Given the description of an element on the screen output the (x, y) to click on. 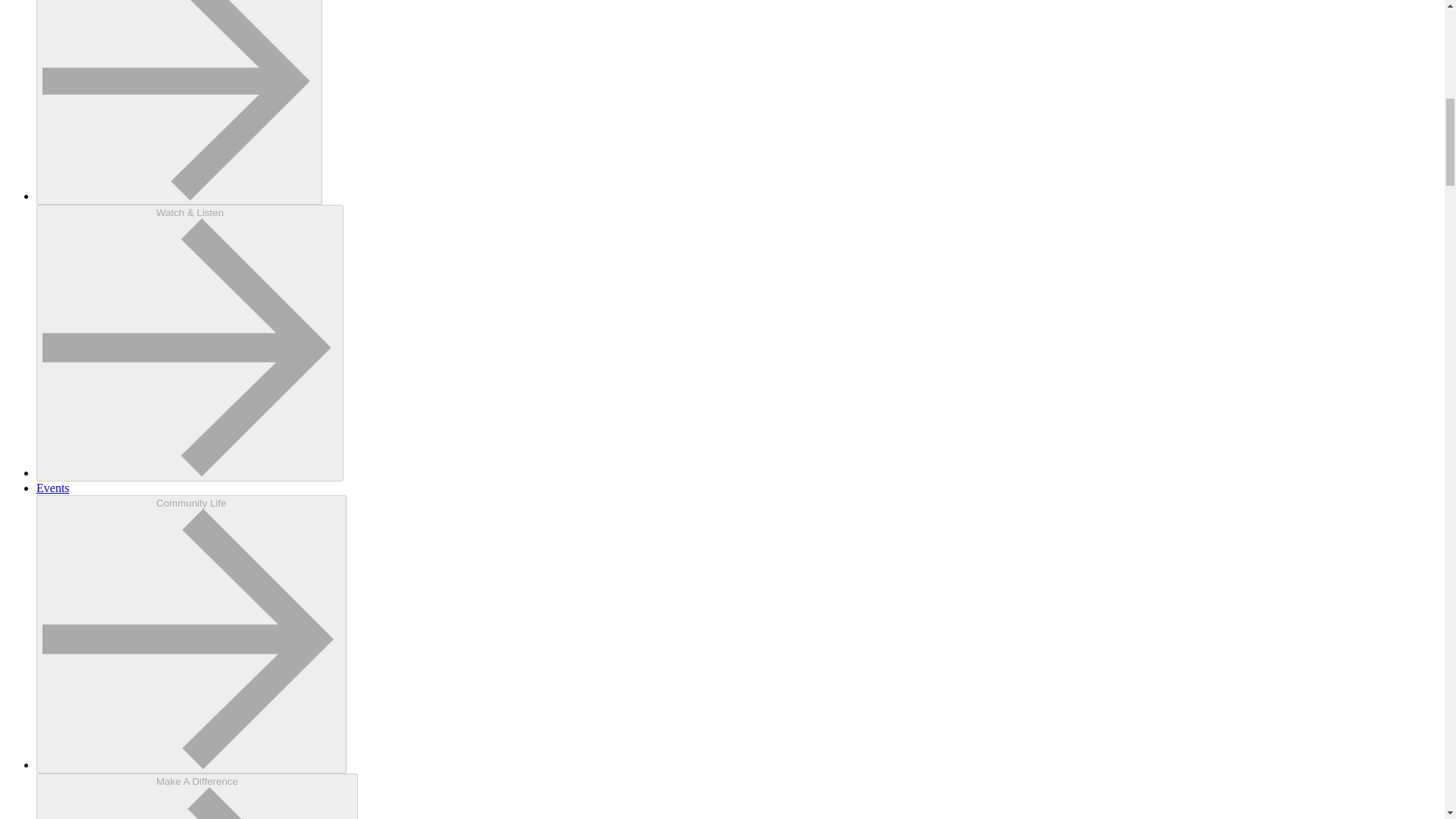
Events (52, 487)
Start Here (178, 102)
Make A Difference (197, 796)
Community Life (191, 634)
